Given the description of an element on the screen output the (x, y) to click on. 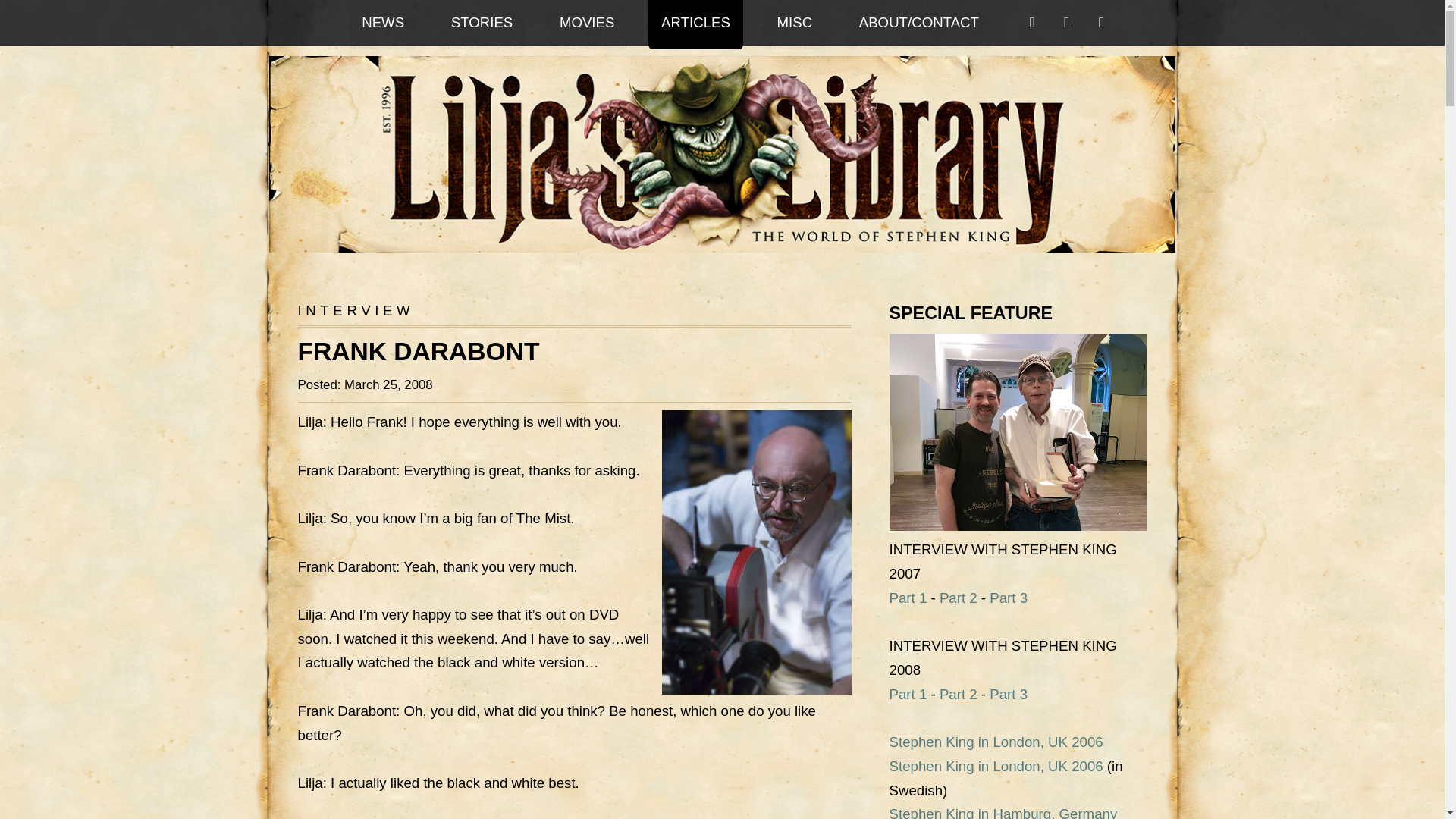
STORIES (481, 24)
MISC (794, 24)
MOVIES (587, 24)
NEWS (382, 24)
ARTICLES (694, 24)
